Given the description of an element on the screen output the (x, y) to click on. 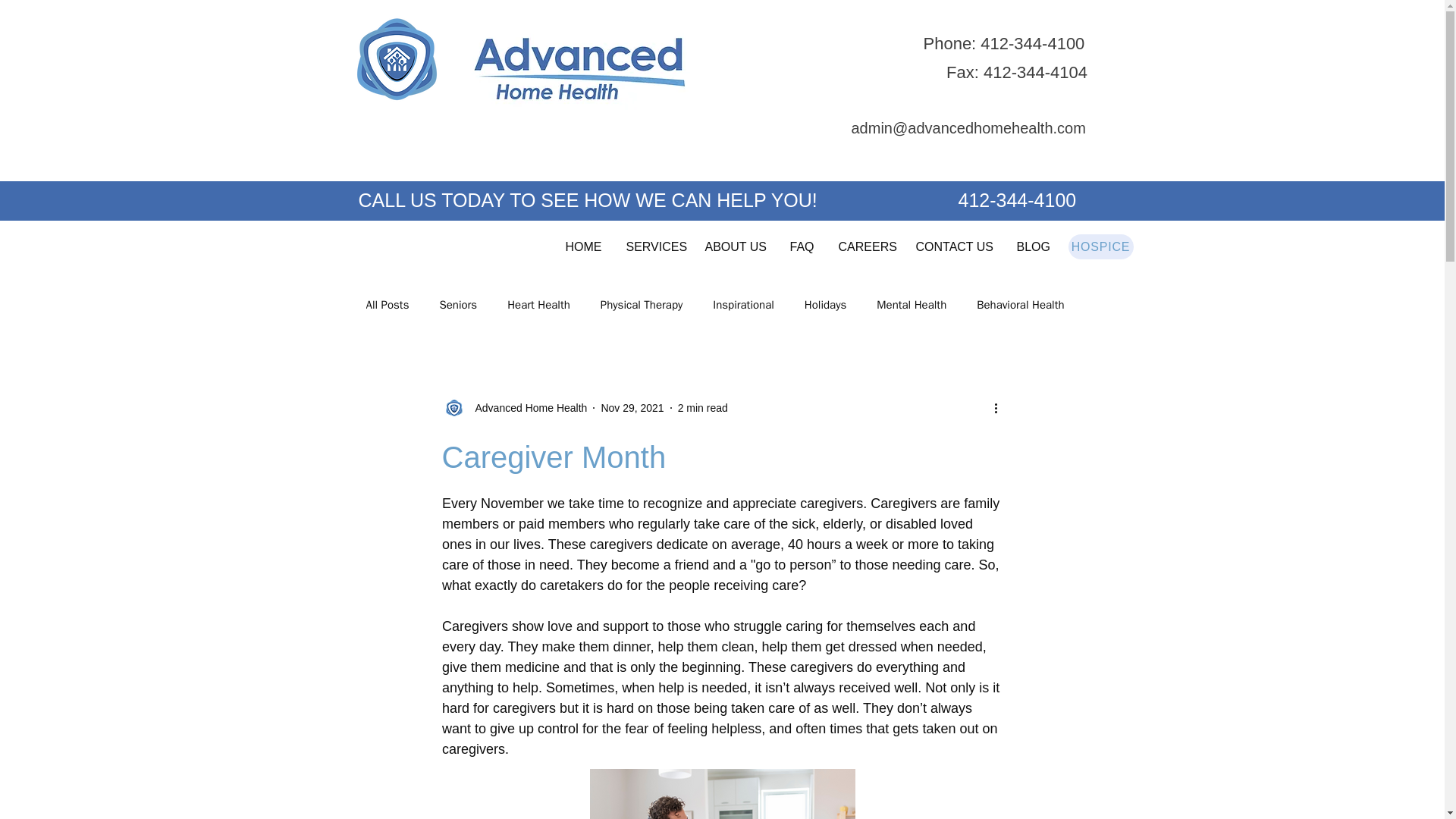
HOME (583, 246)
Seniors (458, 304)
Behavioral Health (1020, 304)
CONTACT US (954, 246)
Mental Health (911, 304)
Nov 29, 2021 (631, 408)
2 min read (703, 408)
Advanced Home Health (513, 407)
Advanced Home Health (525, 408)
Inspirational (743, 304)
